Given the description of an element on the screen output the (x, y) to click on. 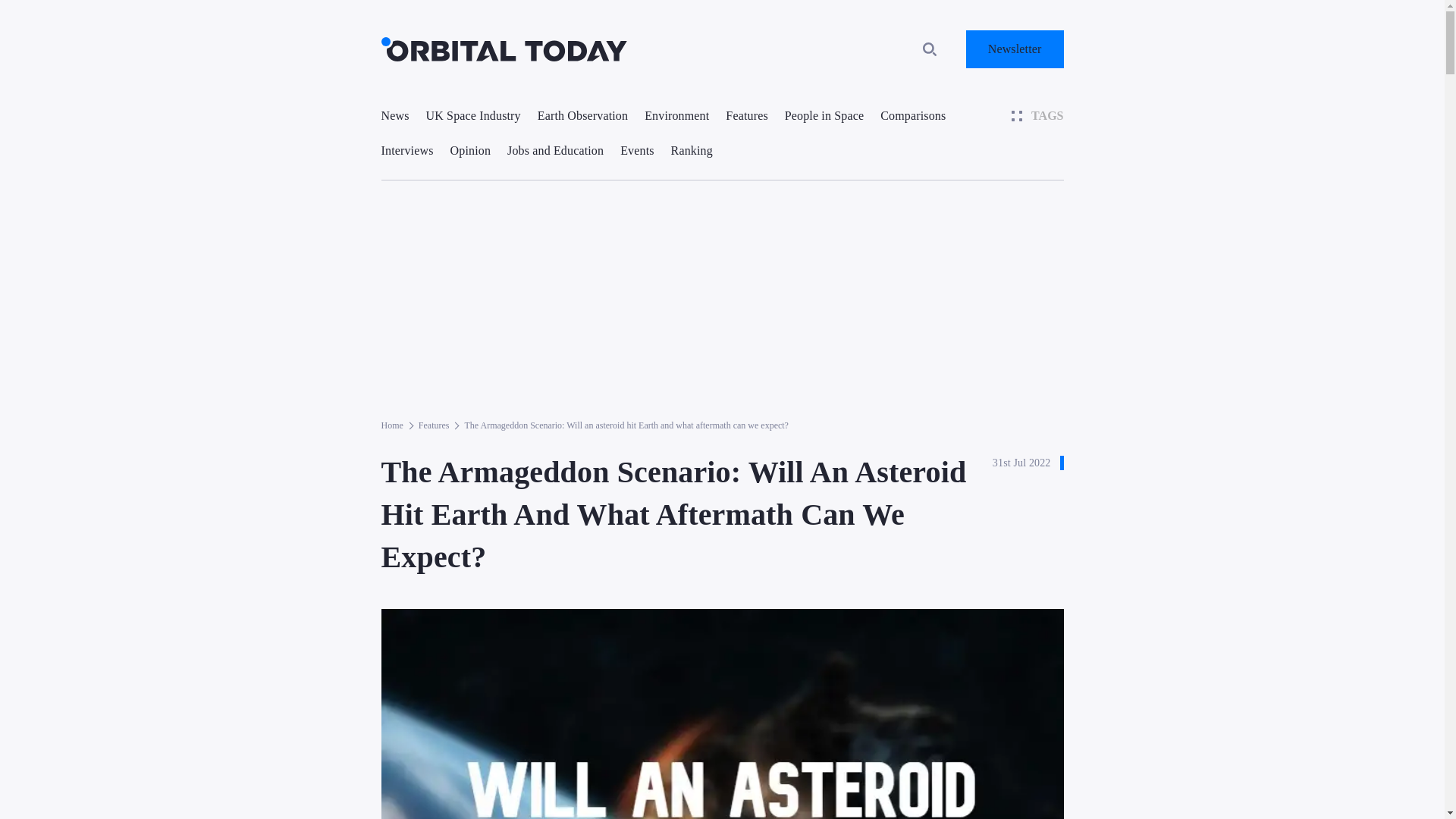
Environment (677, 115)
TAGS (1036, 115)
Opinion (470, 150)
Interviews (406, 150)
Newsletter (1015, 48)
Ranking (692, 150)
Features (746, 115)
Earth Observation (582, 115)
UK Space Industry (473, 115)
Jobs and Education (555, 150)
Comparisons (912, 115)
Events (636, 150)
People in Space (823, 115)
